Given the description of an element on the screen output the (x, y) to click on. 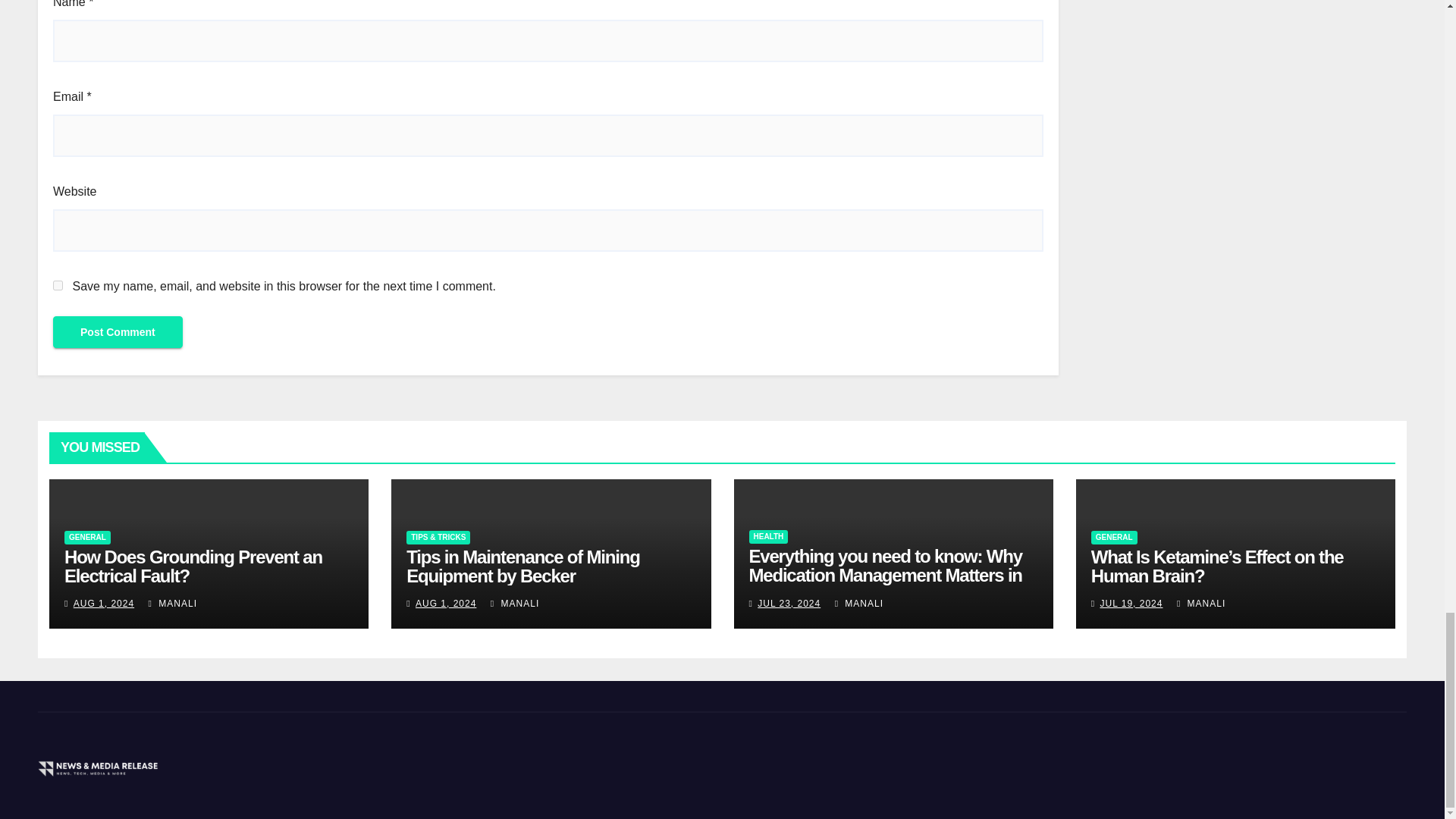
Post Comment (117, 332)
yes (57, 285)
